Given the description of an element on the screen output the (x, y) to click on. 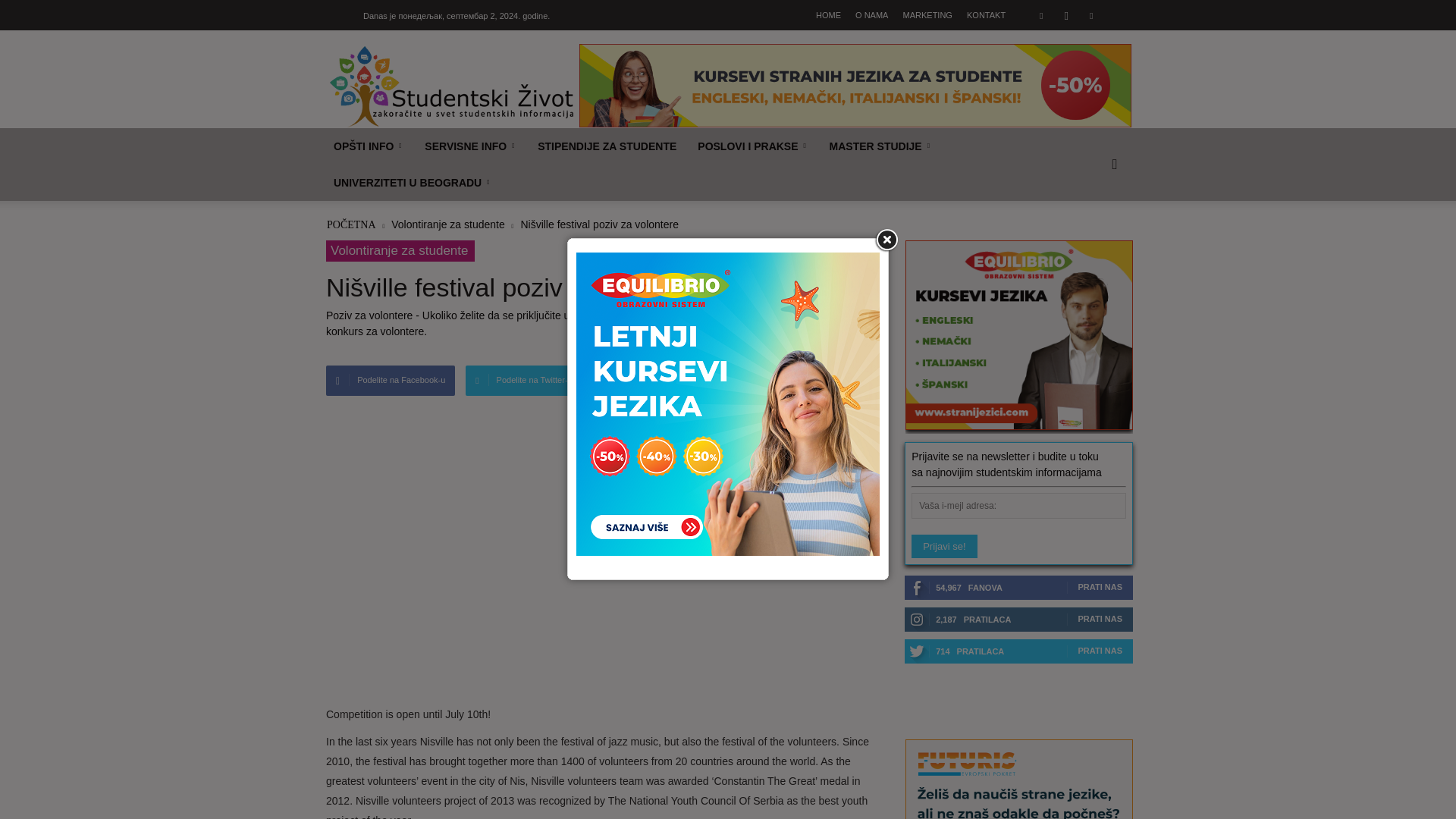
Facebook (1040, 14)
Prijavi se! (943, 545)
View all posts in Volontiranje za studente (448, 224)
Instagram (1065, 14)
Twitter (1091, 14)
